Given the description of an element on the screen output the (x, y) to click on. 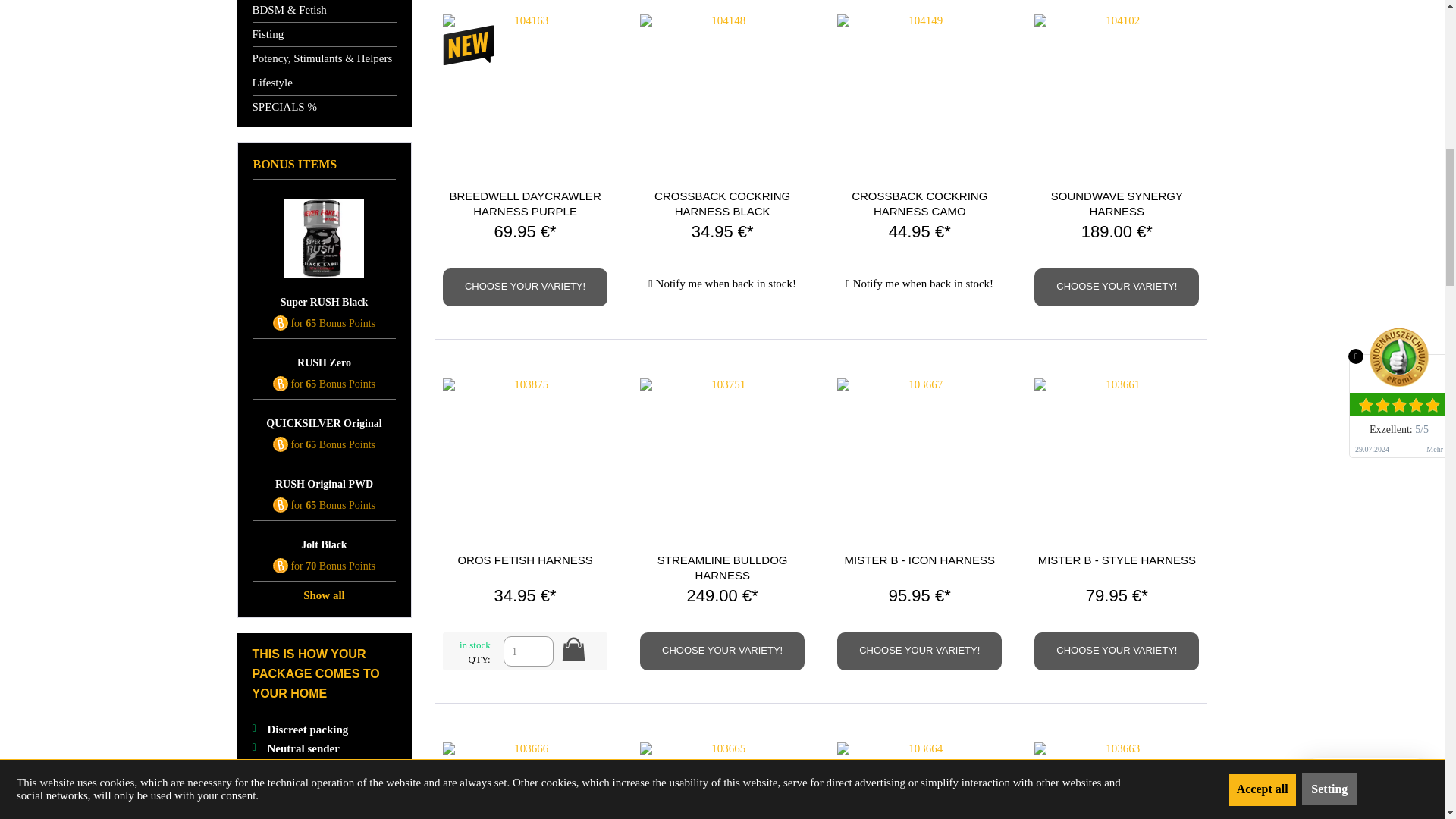
1 (528, 651)
